Given the description of an element on the screen output the (x, y) to click on. 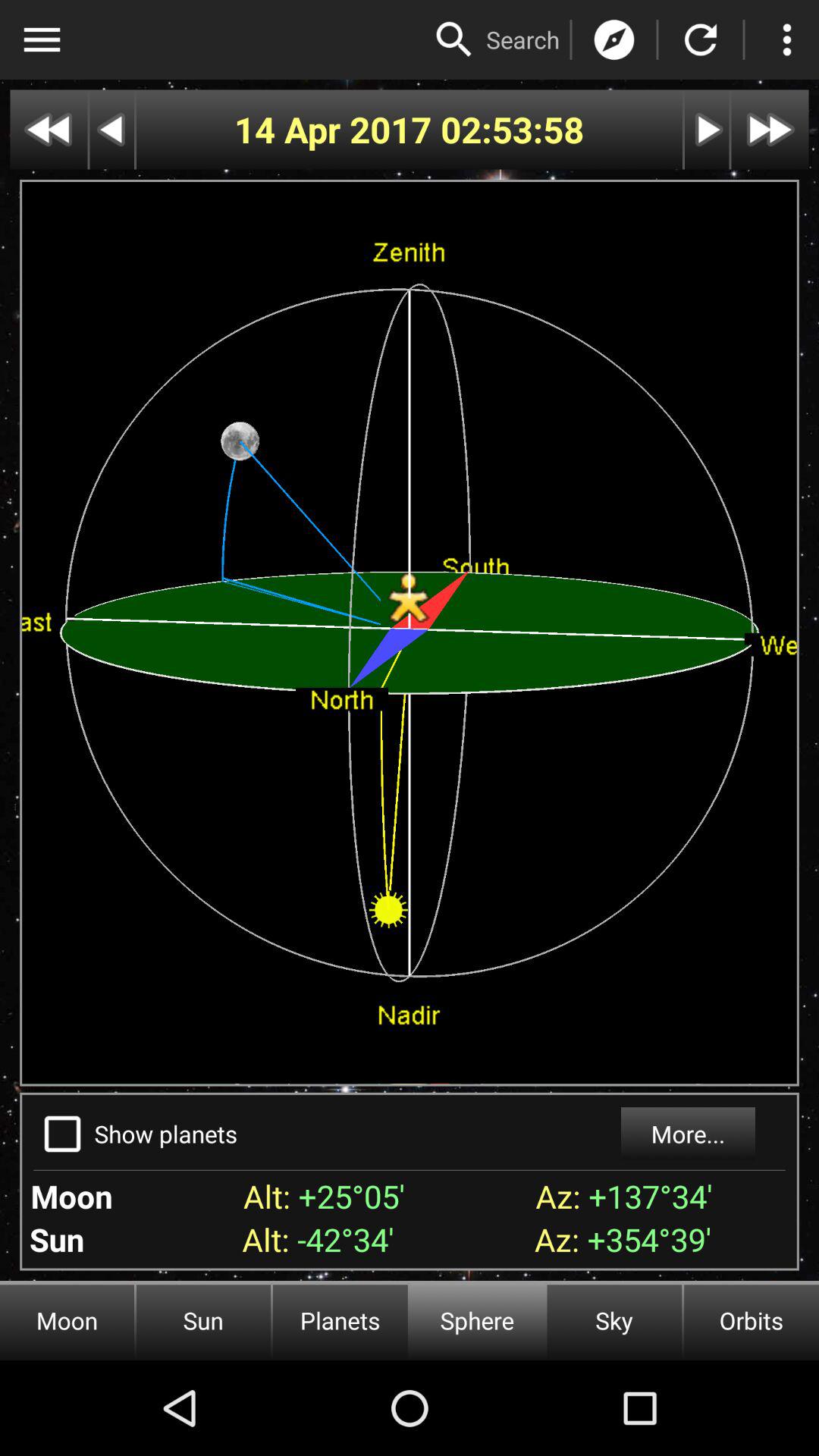
turn on app to the right of the 14 apr 2017  item (512, 129)
